Given the description of an element on the screen output the (x, y) to click on. 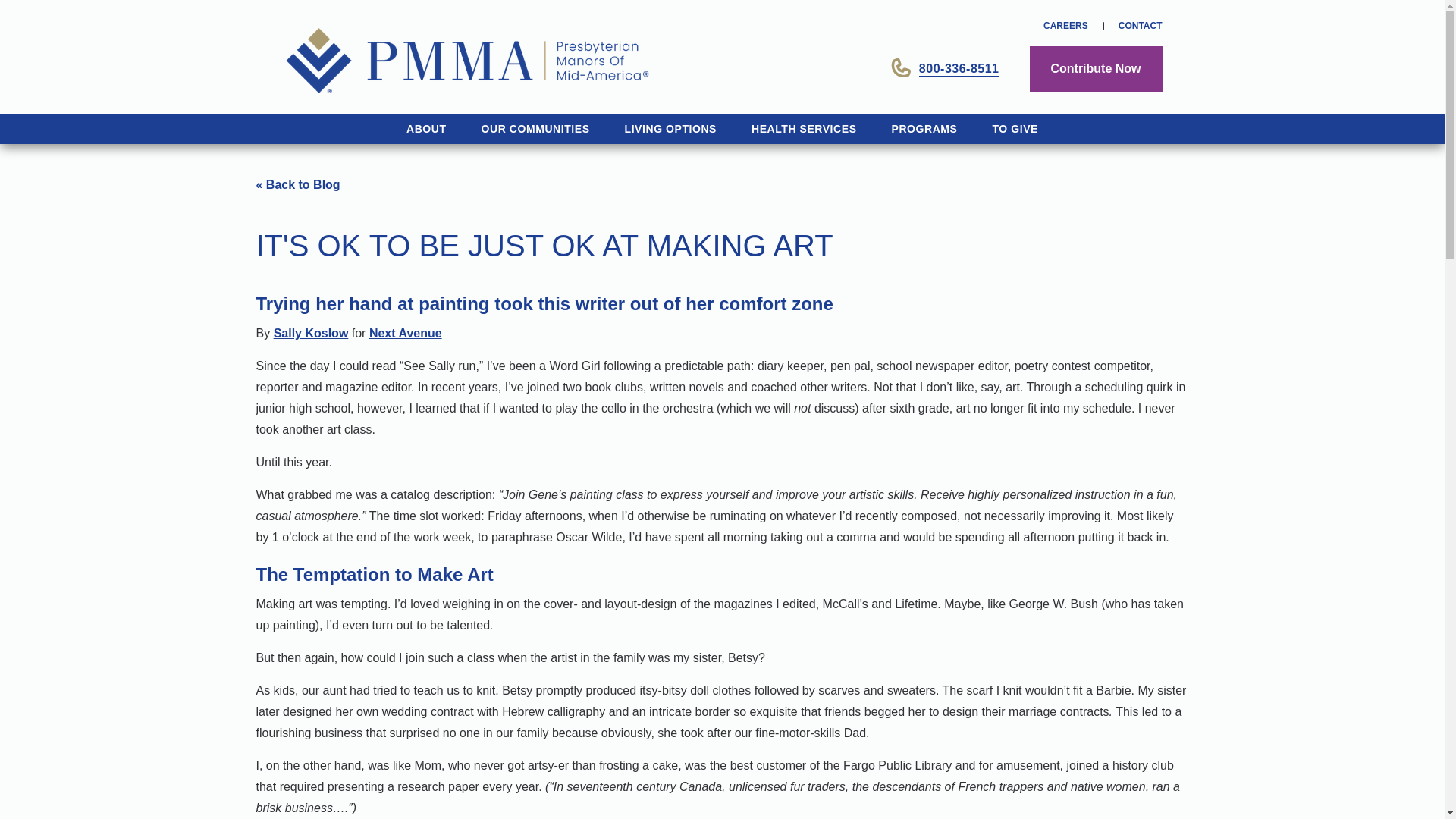
800-336-8511 (944, 68)
CAREERS (1065, 25)
CONTACT (1139, 25)
ABOUT (426, 128)
Contribute Now (1095, 68)
